Given the description of an element on the screen output the (x, y) to click on. 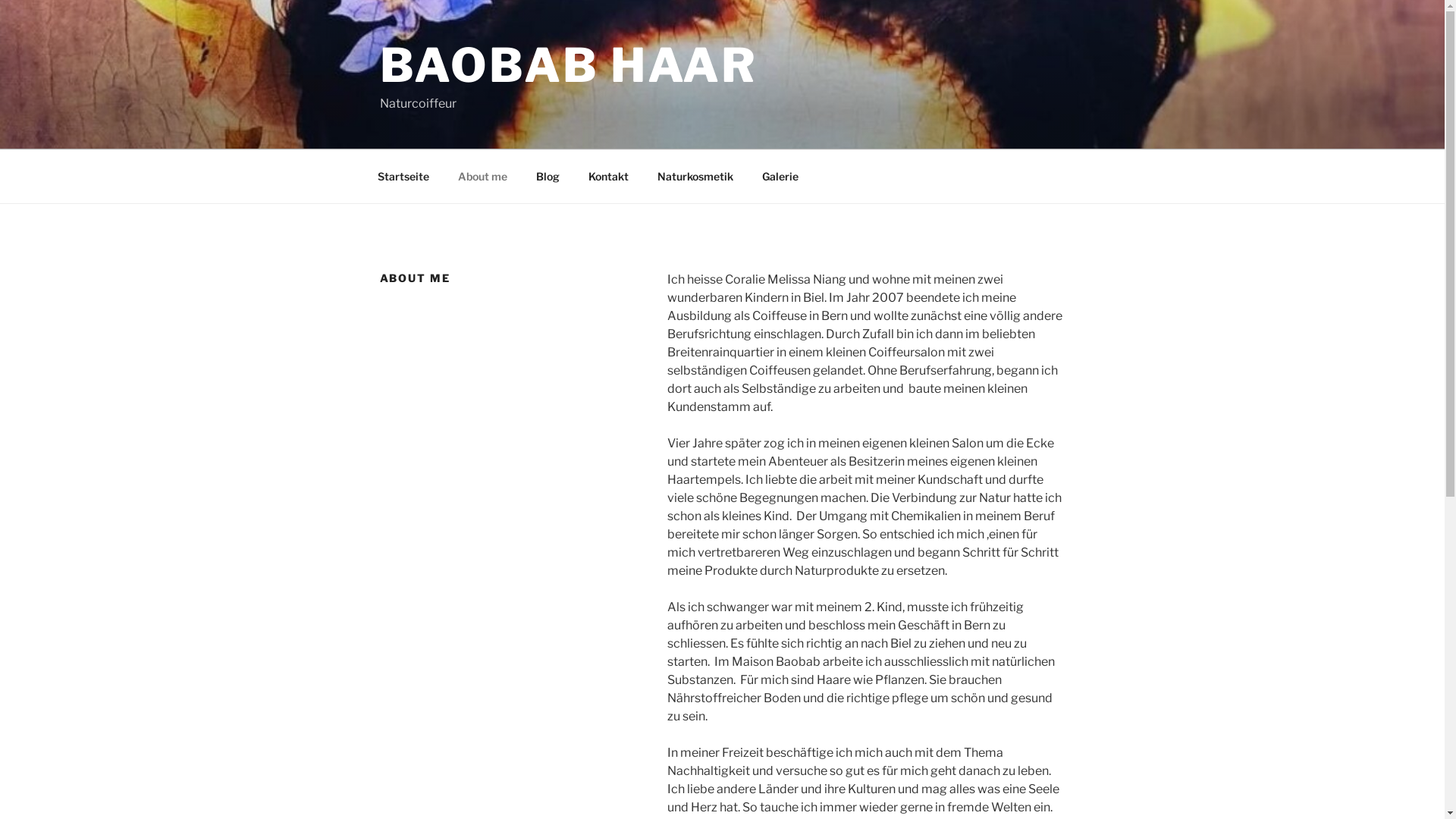
Galerie Element type: text (780, 175)
Kontakt Element type: text (607, 175)
BAOBAB HAAR Element type: text (568, 65)
Blog Element type: text (548, 175)
Startseite Element type: text (403, 175)
About me Element type: text (482, 175)
Naturkosmetik Element type: text (695, 175)
